Given the description of an element on the screen output the (x, y) to click on. 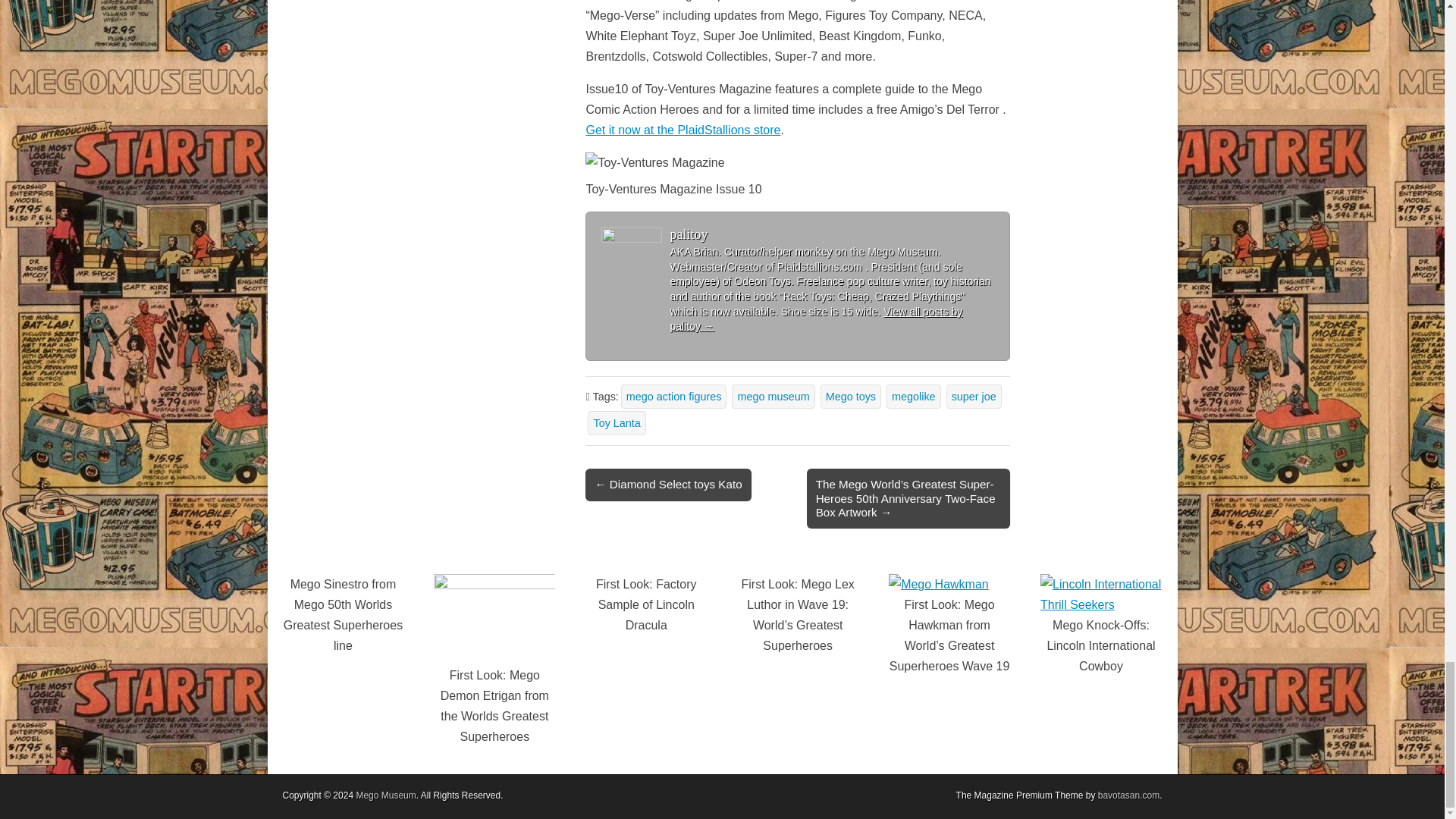
super joe (973, 396)
Get it now at the PlaidStallions store (682, 129)
Mego toys (850, 396)
mego museum (772, 396)
mego action figures (673, 396)
Toy Lanta (616, 422)
megolike (913, 396)
